Given the description of an element on the screen output the (x, y) to click on. 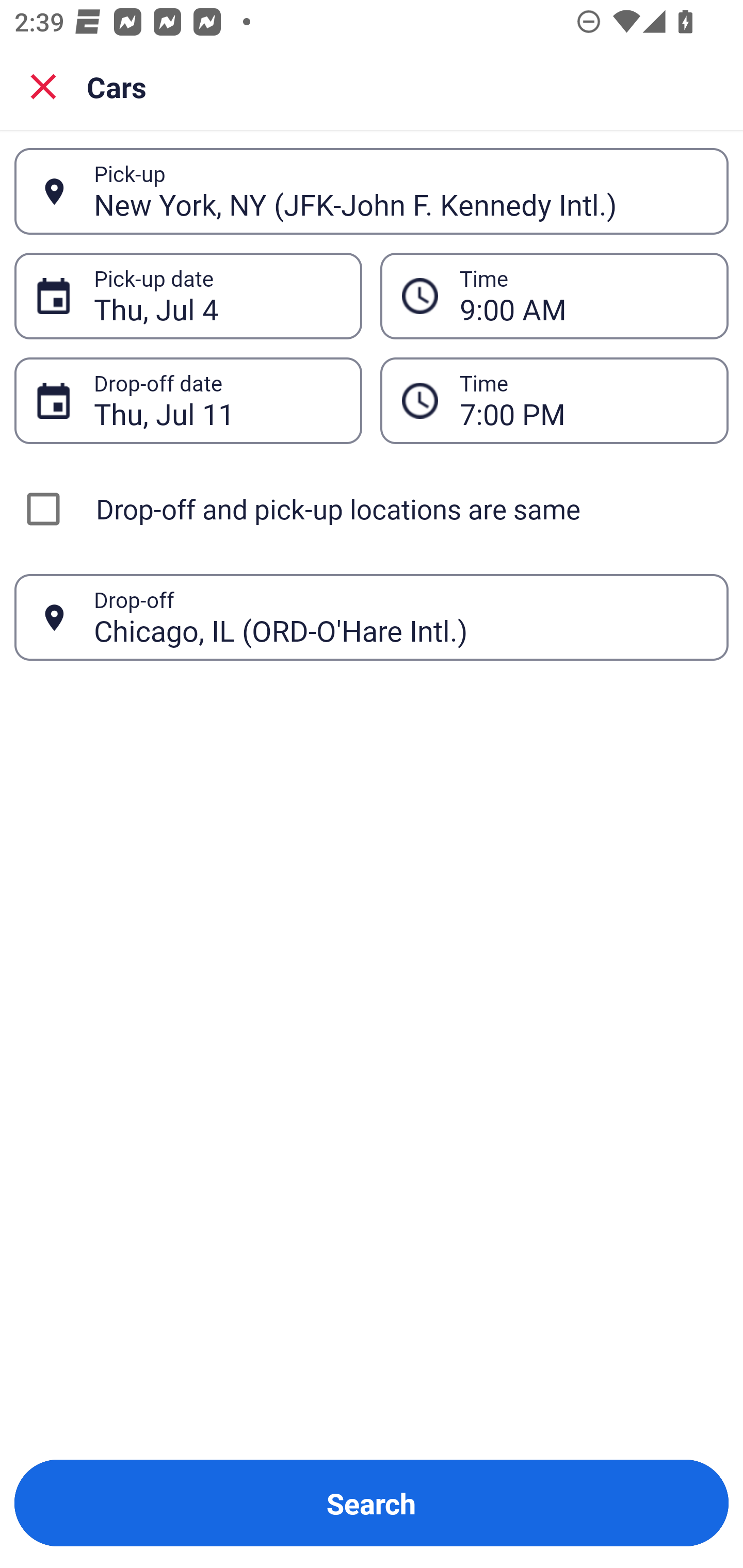
Close search screen (43, 86)
New York, NY (JFK-John F. Kennedy Intl.) Pick-up (371, 191)
New York, NY (JFK-John F. Kennedy Intl.) (399, 191)
Thu, Jul 4 Pick-up date (188, 295)
9:00 AM (554, 295)
Thu, Jul 4 (216, 296)
9:00 AM (582, 296)
Thu, Jul 11 Drop-off date (188, 400)
7:00 PM (554, 400)
Thu, Jul 11 (216, 400)
7:00 PM (582, 400)
Drop-off and pick-up locations are same (371, 508)
Chicago, IL (ORD-O'Hare Intl.) Drop-off (371, 616)
Chicago, IL (ORD-O'Hare Intl.) (399, 616)
Search Button Search (371, 1502)
